Given the description of an element on the screen output the (x, y) to click on. 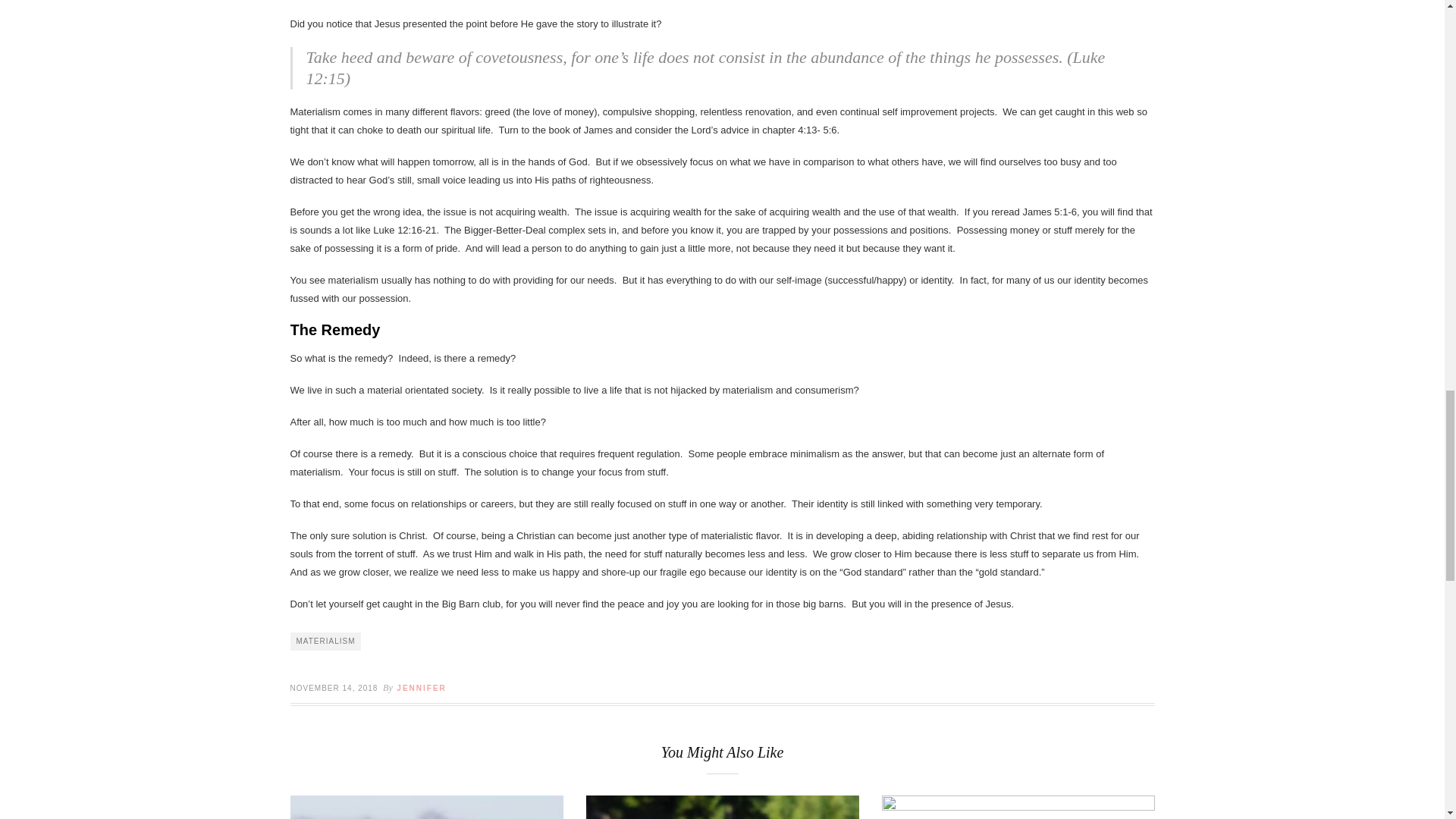
MATERIALISM (324, 641)
JENNIFER (420, 687)
Posts by Jennifer (420, 687)
